Given the description of an element on the screen output the (x, y) to click on. 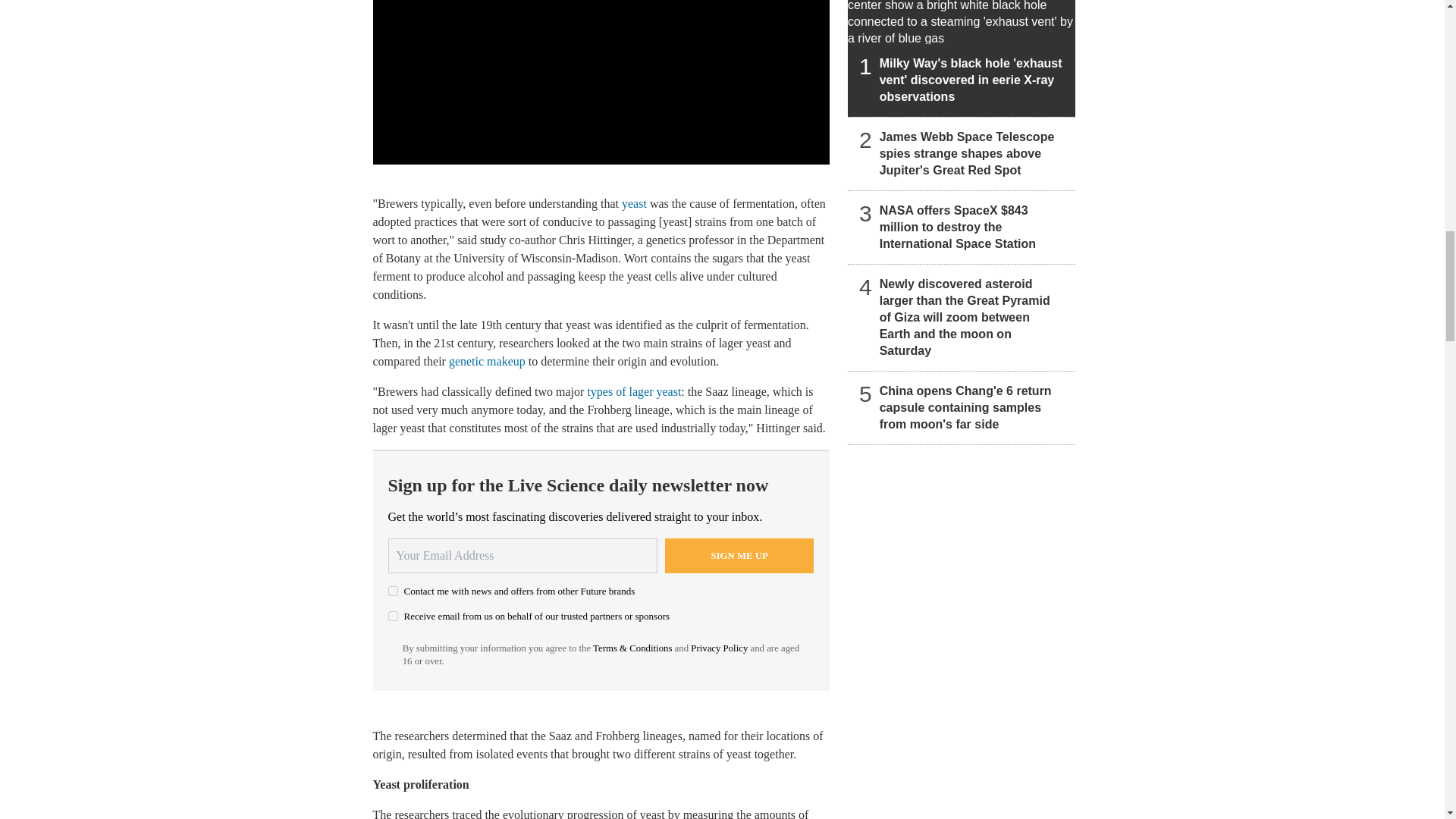
Sign me up (739, 555)
on (392, 591)
on (392, 615)
